Given the description of an element on the screen output the (x, y) to click on. 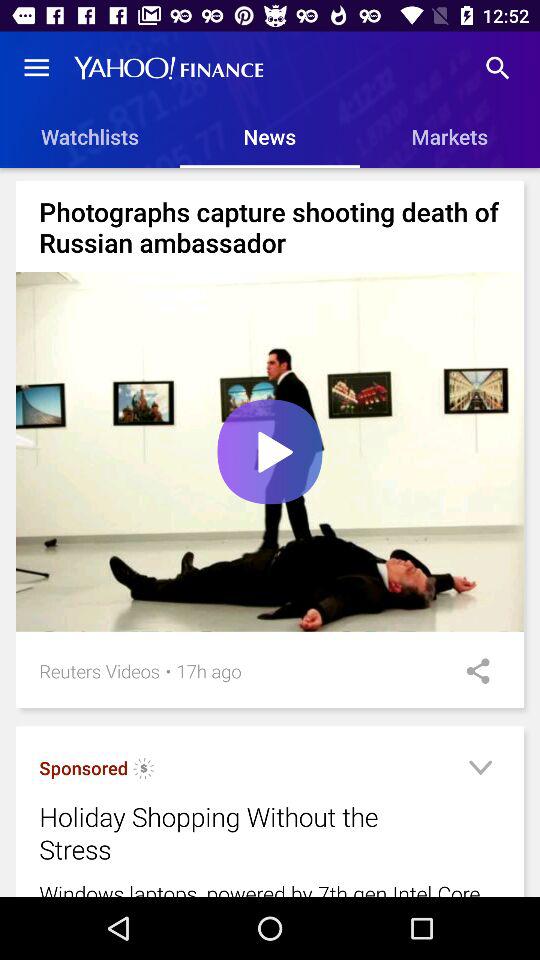
choose icon above watchlists (36, 68)
